Given the description of an element on the screen output the (x, y) to click on. 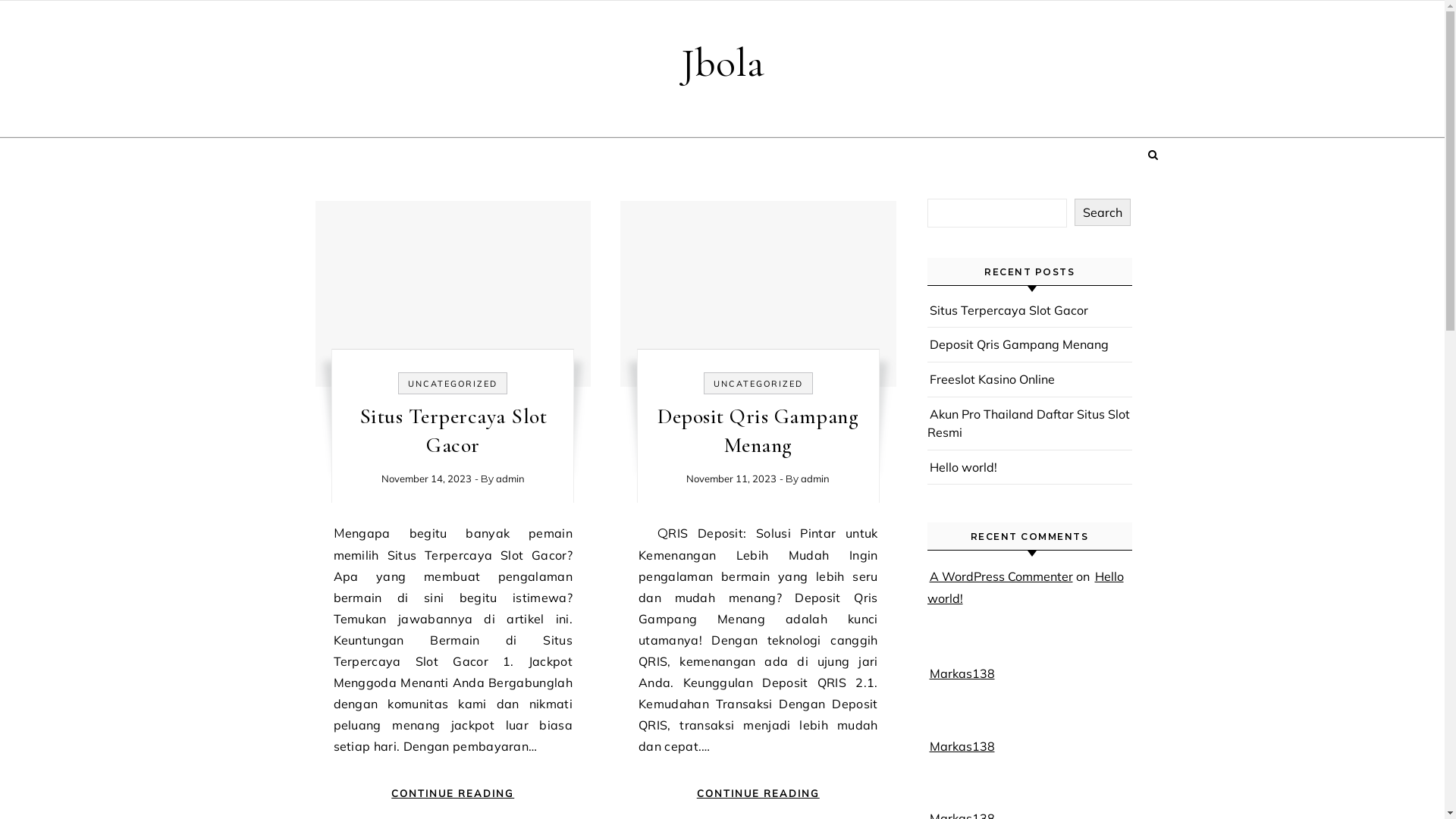
Akun Pro Thailand Daftar Situs Slot Resmi Element type: text (1027, 423)
CONTINUE READING Element type: text (452, 793)
Search Element type: text (1101, 211)
A WordPress Commenter Element type: text (1001, 575)
CONTINUE READING Element type: text (757, 793)
UNCATEGORIZED Element type: text (452, 383)
admin Element type: text (509, 478)
Hello world! Element type: text (963, 466)
Hello world! Element type: text (1024, 586)
Markas138 Element type: text (961, 745)
Markas138 Element type: text (961, 672)
Deposit Qris Gampang Menang Element type: text (757, 430)
Situs Terpercaya Slot Gacor Element type: text (1008, 309)
Situs Terpercaya Slot Gacor Element type: text (453, 430)
Deposit Qris Gampang Menang Element type: text (1018, 343)
Jbola Element type: text (722, 62)
admin Element type: text (814, 478)
Freeslot Kasino Online Element type: text (991, 378)
UNCATEGORIZED Element type: text (758, 383)
